Given the description of an element on the screen output the (x, y) to click on. 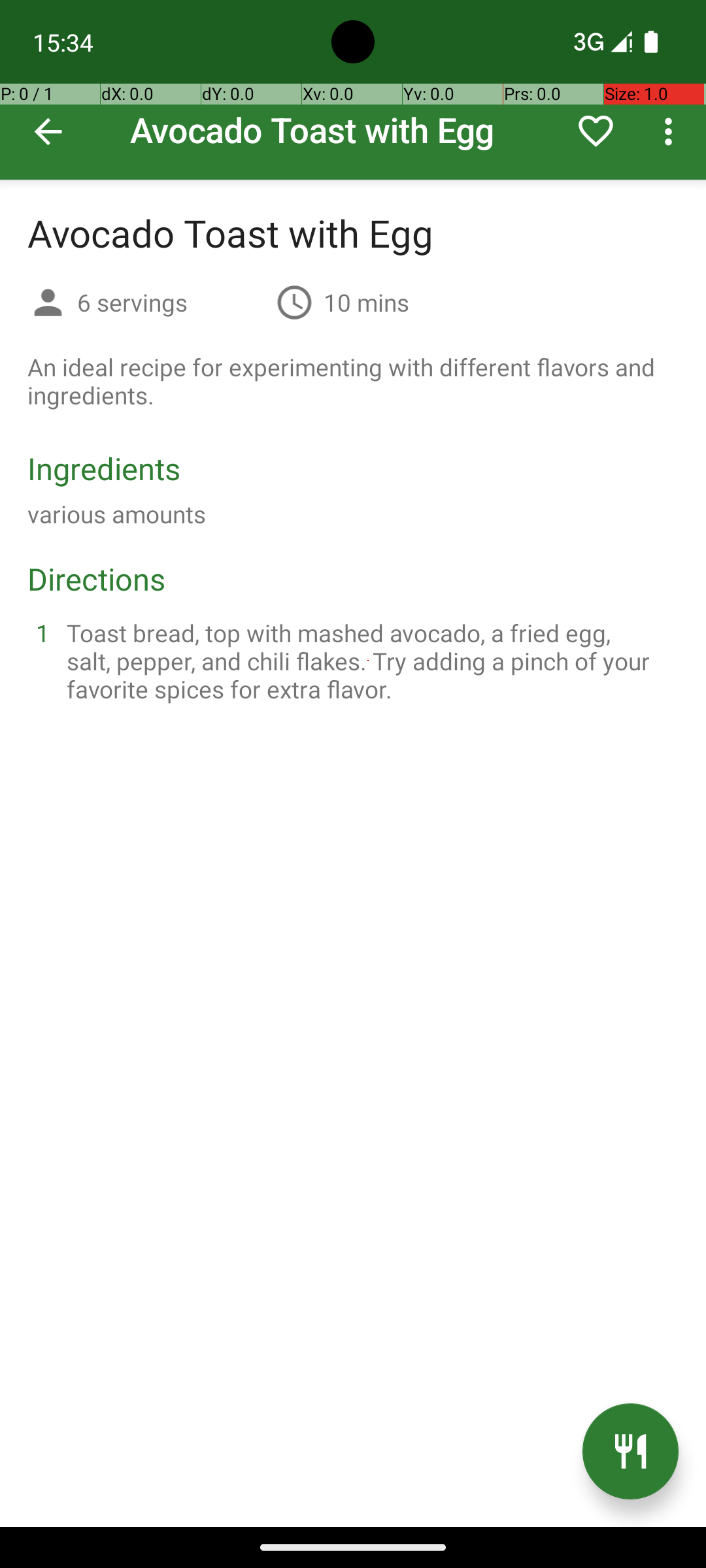
Avocado Toast with Egg Element type: android.widget.FrameLayout (353, 89)
Cook Element type: android.widget.ImageButton (630, 1451)
Recipe photo Element type: android.widget.ImageView (353, 89)
Mark as favorite Element type: android.widget.Button (595, 131)
Servings Element type: android.widget.ImageView (47, 303)
6 servings Element type: android.widget.TextView (170, 301)
10 mins Element type: android.widget.TextView (366, 301)
An ideal recipe for experimenting with different flavors and ingredients. Element type: android.widget.TextView (352, 380)
Ingredients Element type: android.widget.TextView (103, 467)
various amounts Element type: android.widget.TextView (116, 513)
Directions Element type: android.widget.TextView (96, 578)
Toast bread, top with mashed avocado, a fried egg, salt, pepper, and chili flakes. Try adding a pinch of your favorite spices for extra flavor. Element type: android.widget.TextView (368, 660)
